Given the description of an element on the screen output the (x, y) to click on. 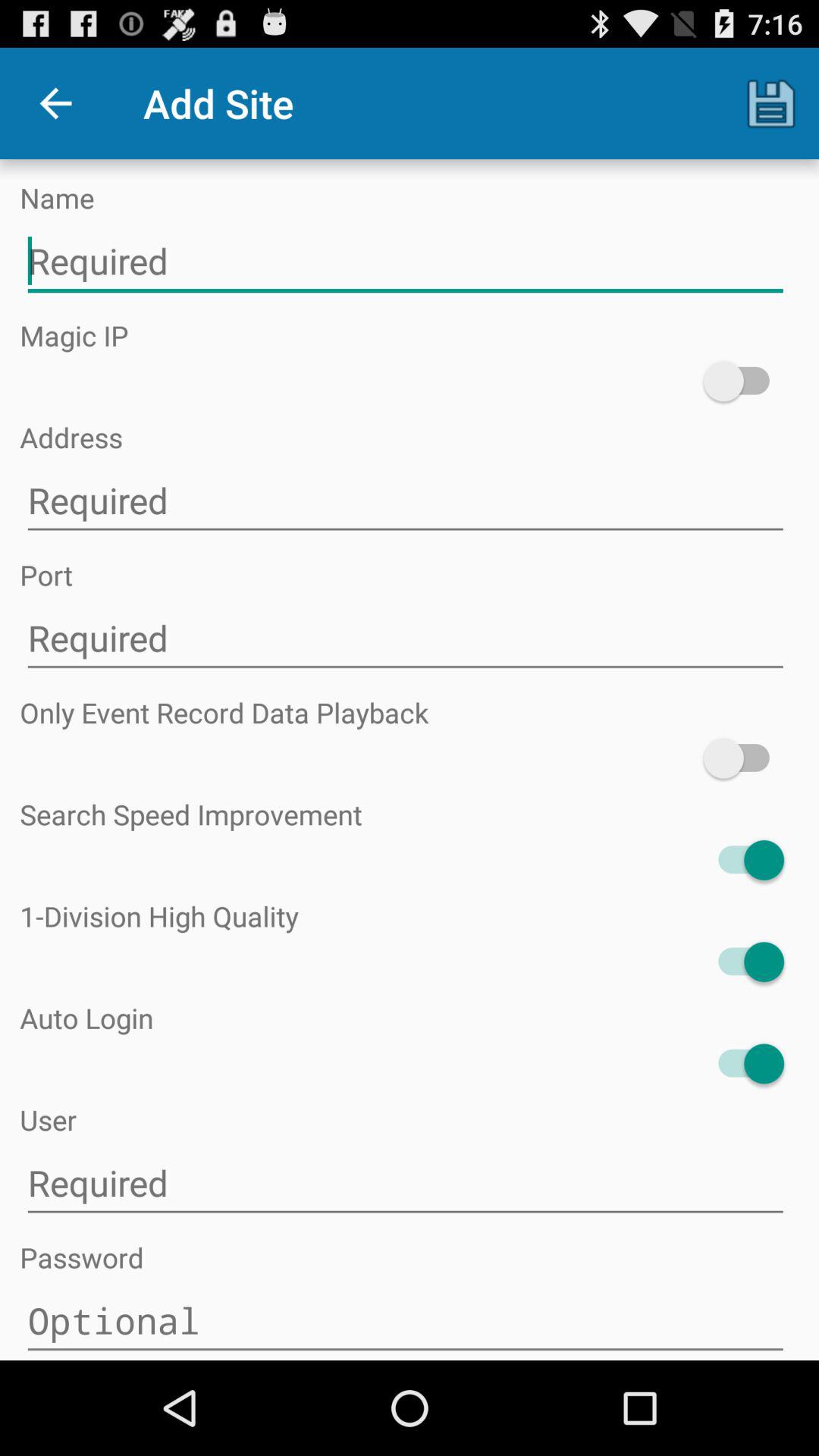
turn off the icon above magic ip (405, 261)
